Given the description of an element on the screen output the (x, y) to click on. 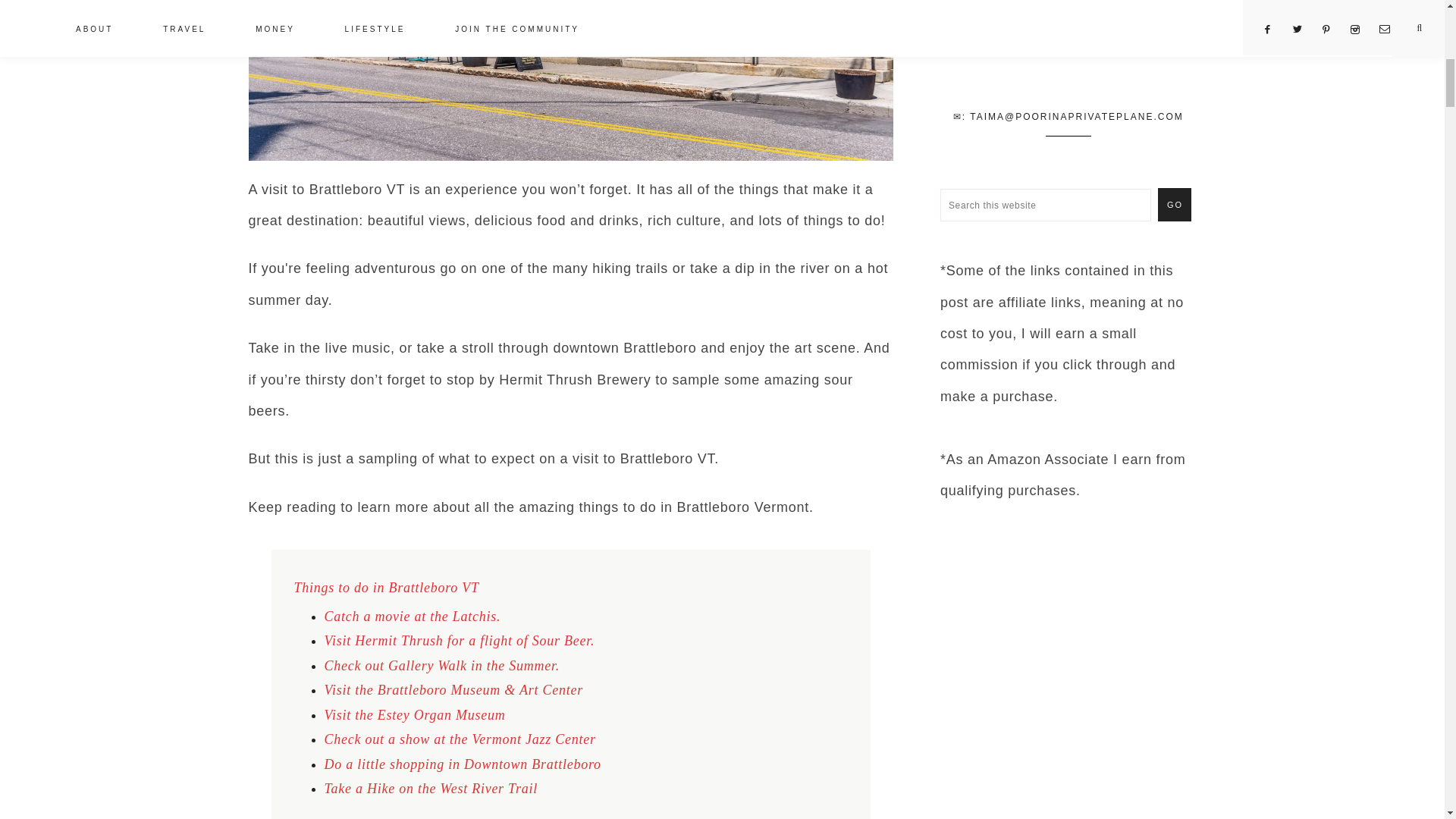
Things to do in Brattleboro VT (386, 587)
Catch a movie at the Latchis. (412, 615)
GO (1174, 204)
GO (1174, 204)
Do a little shopping in Downtown Brattleboro (462, 764)
Check out a show at the Vermont Jazz Center (459, 739)
Visit Hermit Thrush for a flight of Sour Beer. (459, 640)
Visit the Estey Organ Museum (414, 713)
Take a Hike on the West River Trail (430, 788)
Check out Gallery Walk in the Summer. (442, 665)
